Given the description of an element on the screen output the (x, y) to click on. 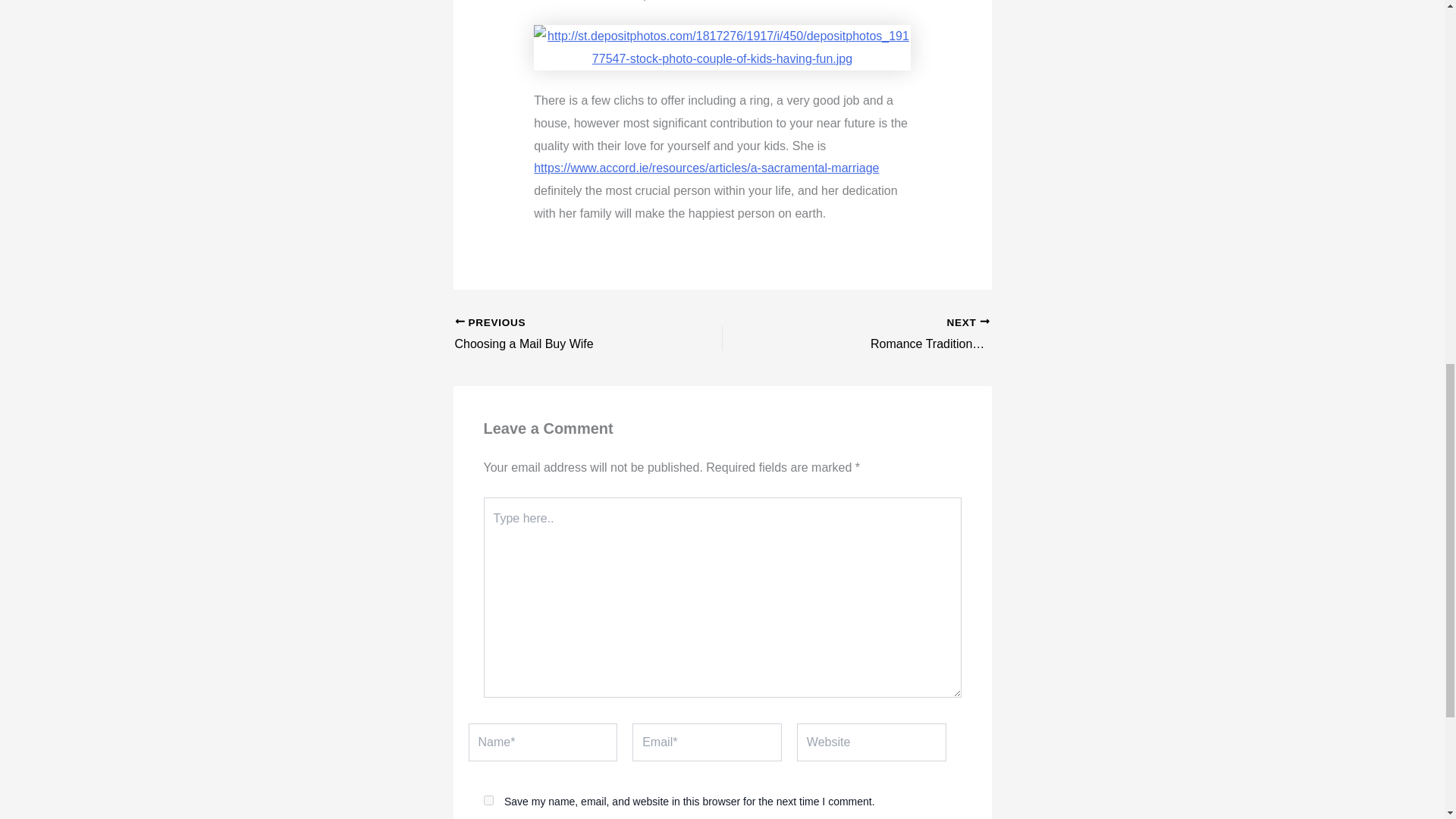
yes (488, 800)
Romance Traditions in Latin America (923, 334)
Choosing a Mail Buy Wife (561, 334)
